Given the description of an element on the screen output the (x, y) to click on. 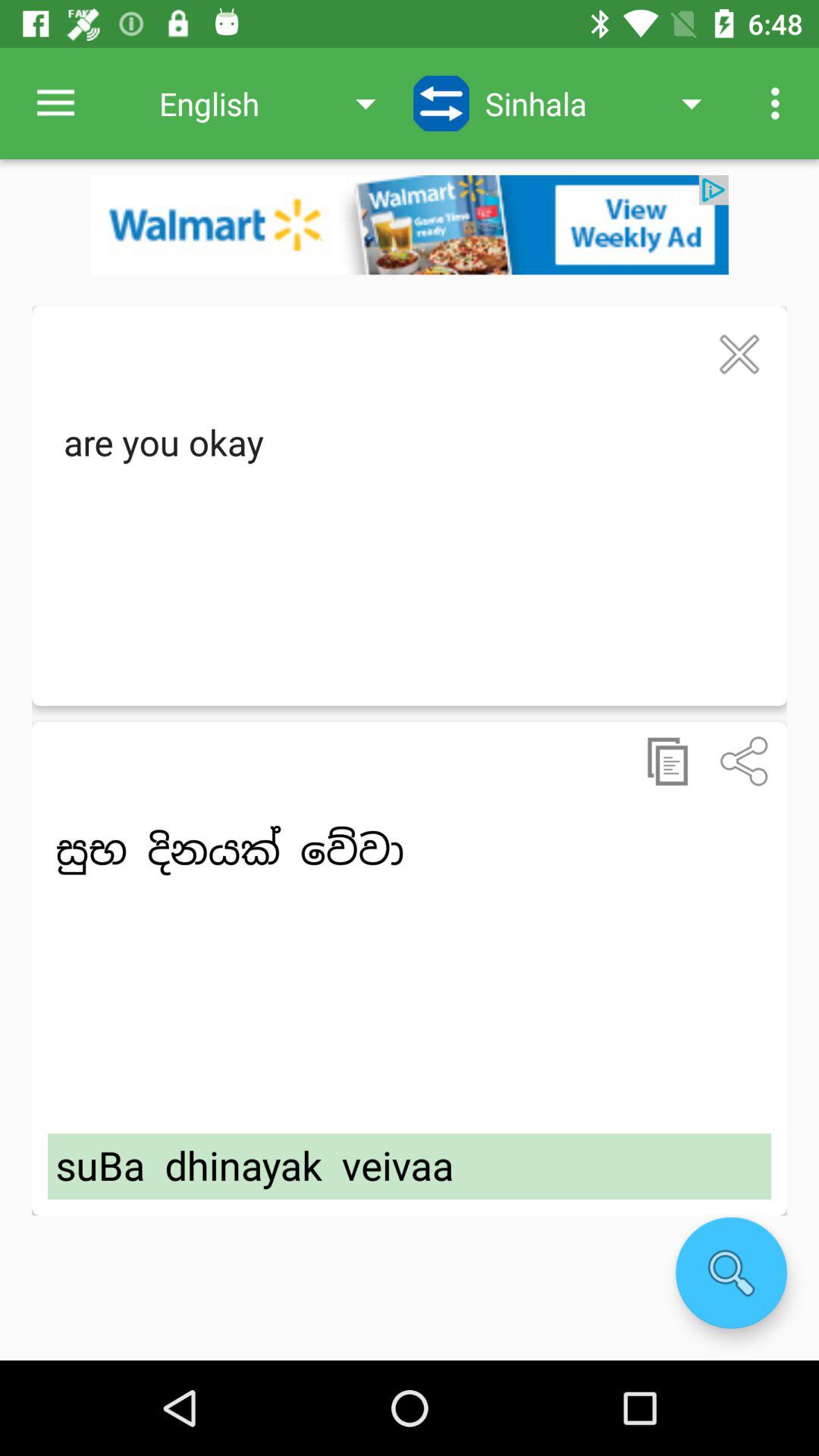
search (731, 1272)
